Given the description of an element on the screen output the (x, y) to click on. 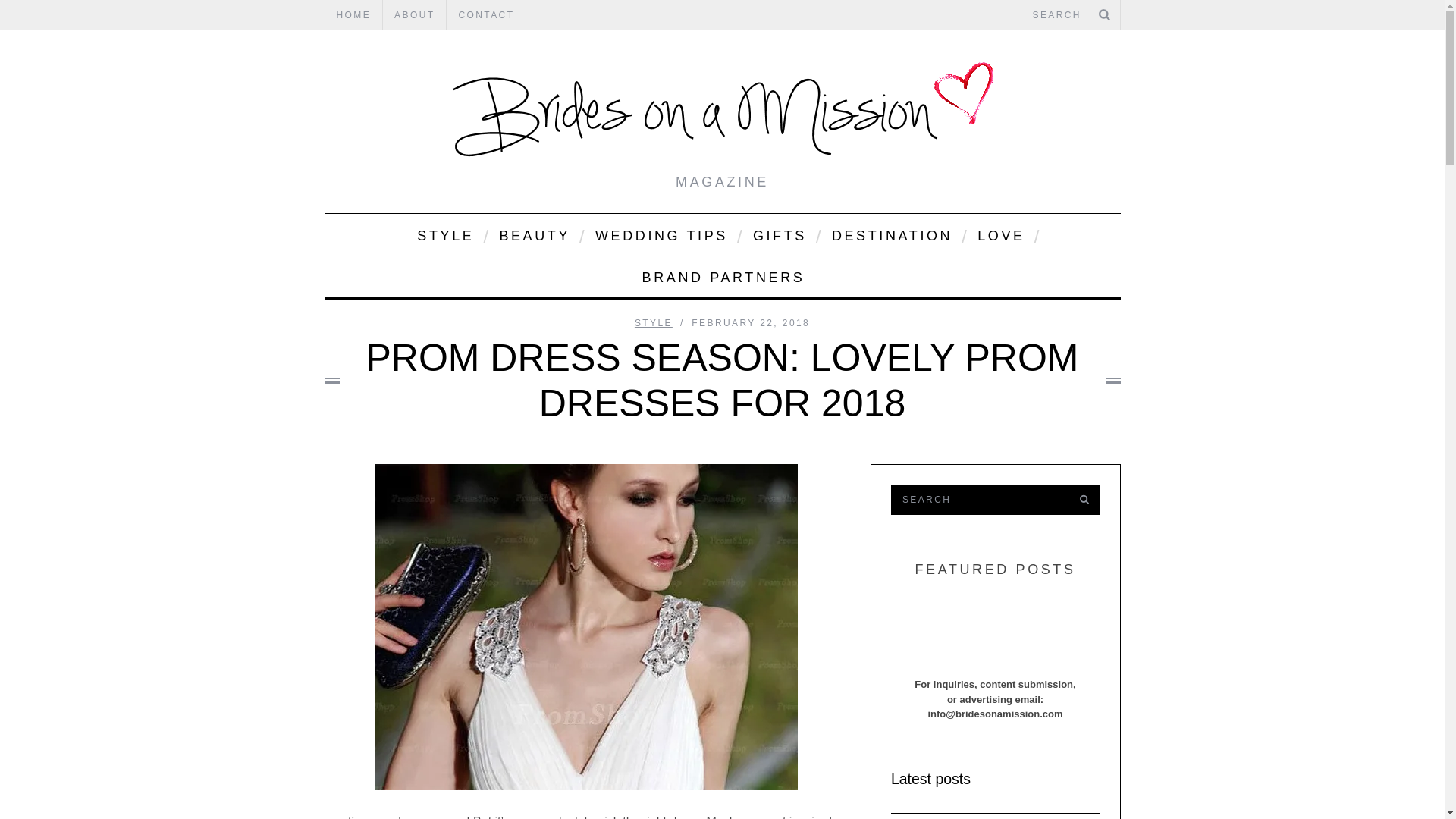
GIFTS (778, 234)
Search (1070, 15)
BEAUTY (533, 234)
CONTACT (485, 14)
HOME (352, 14)
ABOUT (413, 14)
WEDDING TIPS (659, 234)
Search (976, 499)
DESTINATION (890, 234)
Brides on a Mission - Magazine (721, 113)
